Given the description of an element on the screen output the (x, y) to click on. 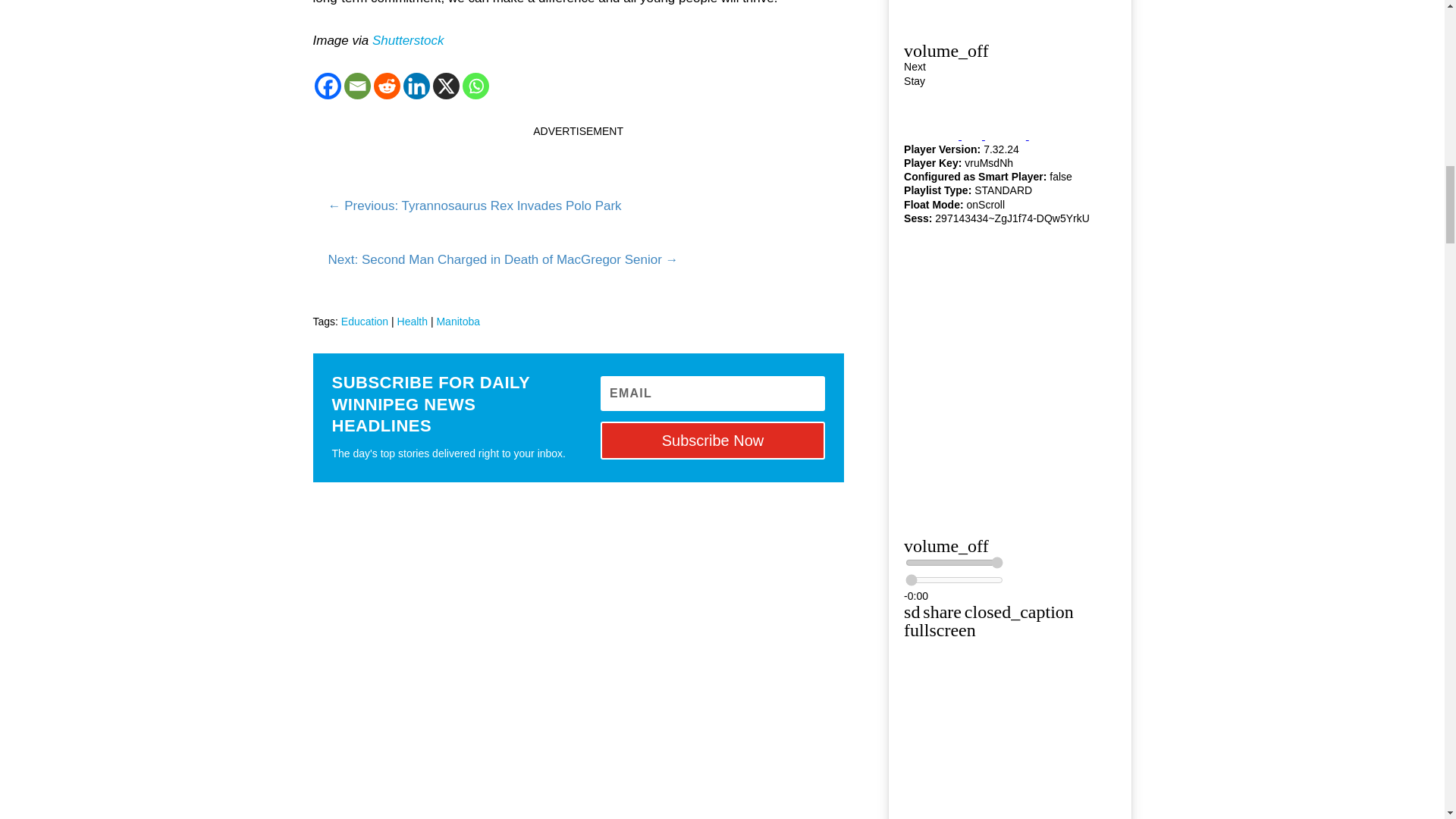
Facebook (327, 85)
Email (357, 85)
Linkedin (416, 85)
X (445, 85)
Reddit (385, 85)
Whatsapp (476, 85)
